Given the description of an element on the screen output the (x, y) to click on. 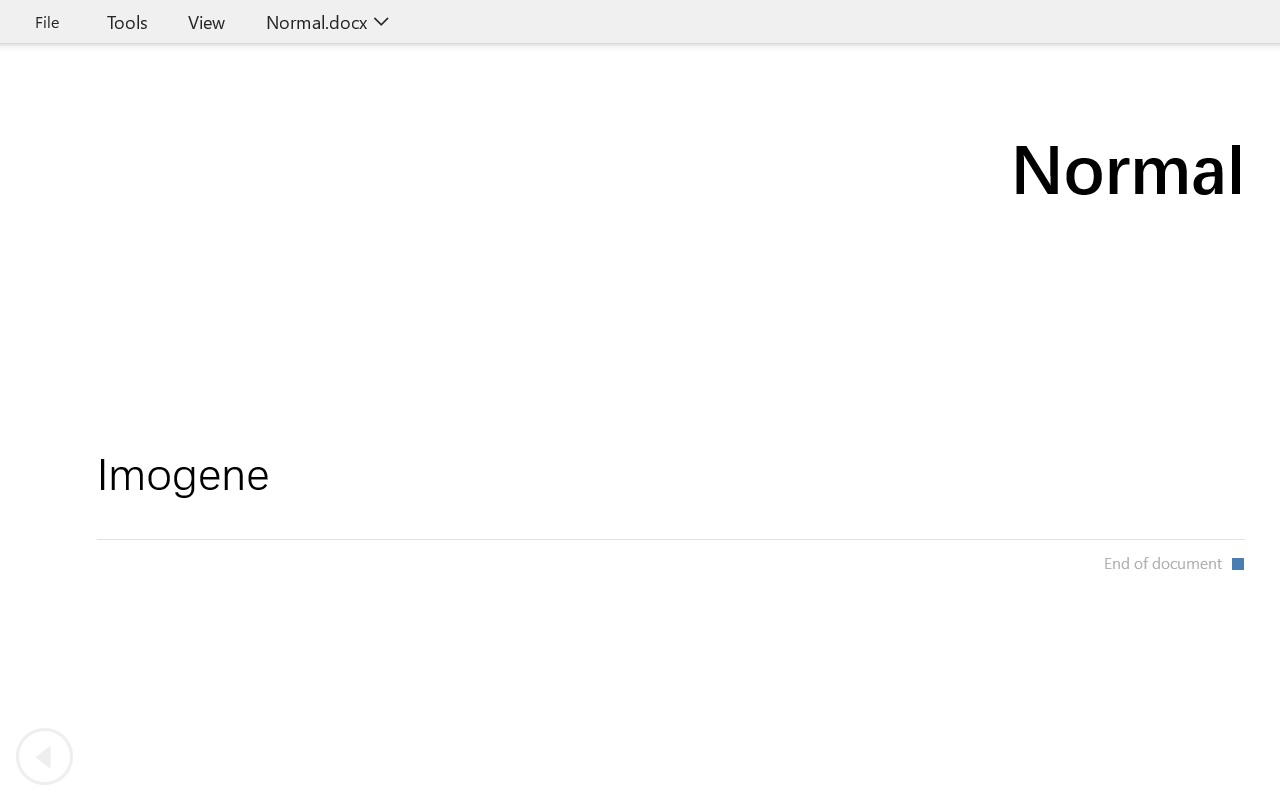
Tools (127, 21)
